Given the description of an element on the screen output the (x, y) to click on. 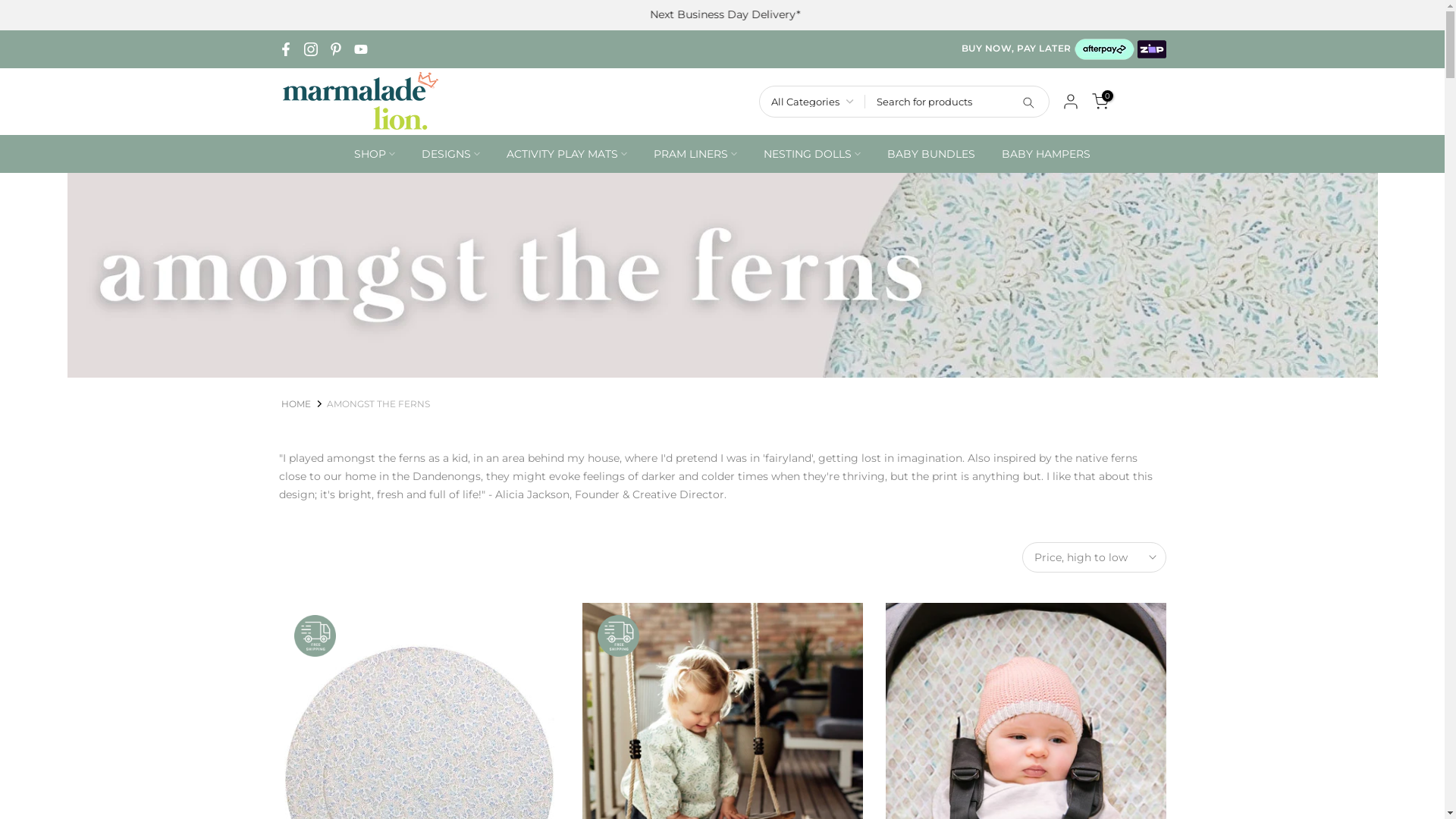
SHOP Element type: text (374, 153)
HOME Element type: text (295, 403)
Follow on Instagram Element type: hover (309, 49)
PRAM LINERS Element type: text (694, 153)
Follow on YouTube Element type: hover (360, 49)
DESIGNS Element type: text (449, 153)
BABY HAMPERS Element type: text (1046, 153)
ACTIVITY PLAY MATS Element type: text (566, 153)
NESTING DOLLS Element type: text (812, 153)
0 Element type: text (1100, 101)
Follow on Pinterest Element type: hover (335, 49)
Price, high to low Element type: text (1094, 557)
Follow on Facebook Element type: hover (285, 49)
BABY BUNDLES Element type: text (930, 153)
